Given the description of an element on the screen output the (x, y) to click on. 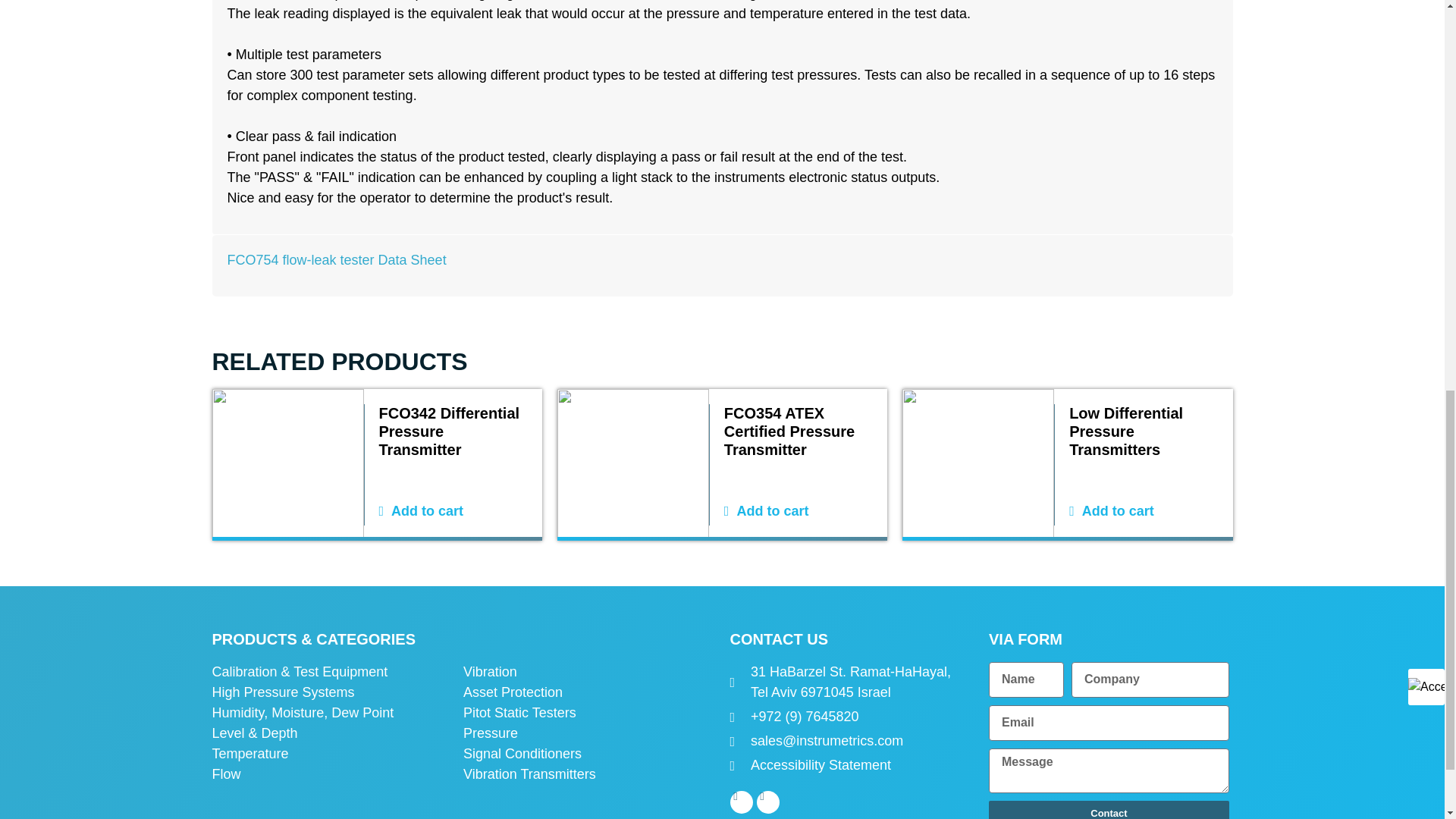
FCO342 Differential Pressure Transmitter (452, 431)
Low Differential Pressure Transmitters (1142, 431)
FCO354 ATEX Certified Pressure Transmitter (797, 431)
